Given the description of an element on the screen output the (x, y) to click on. 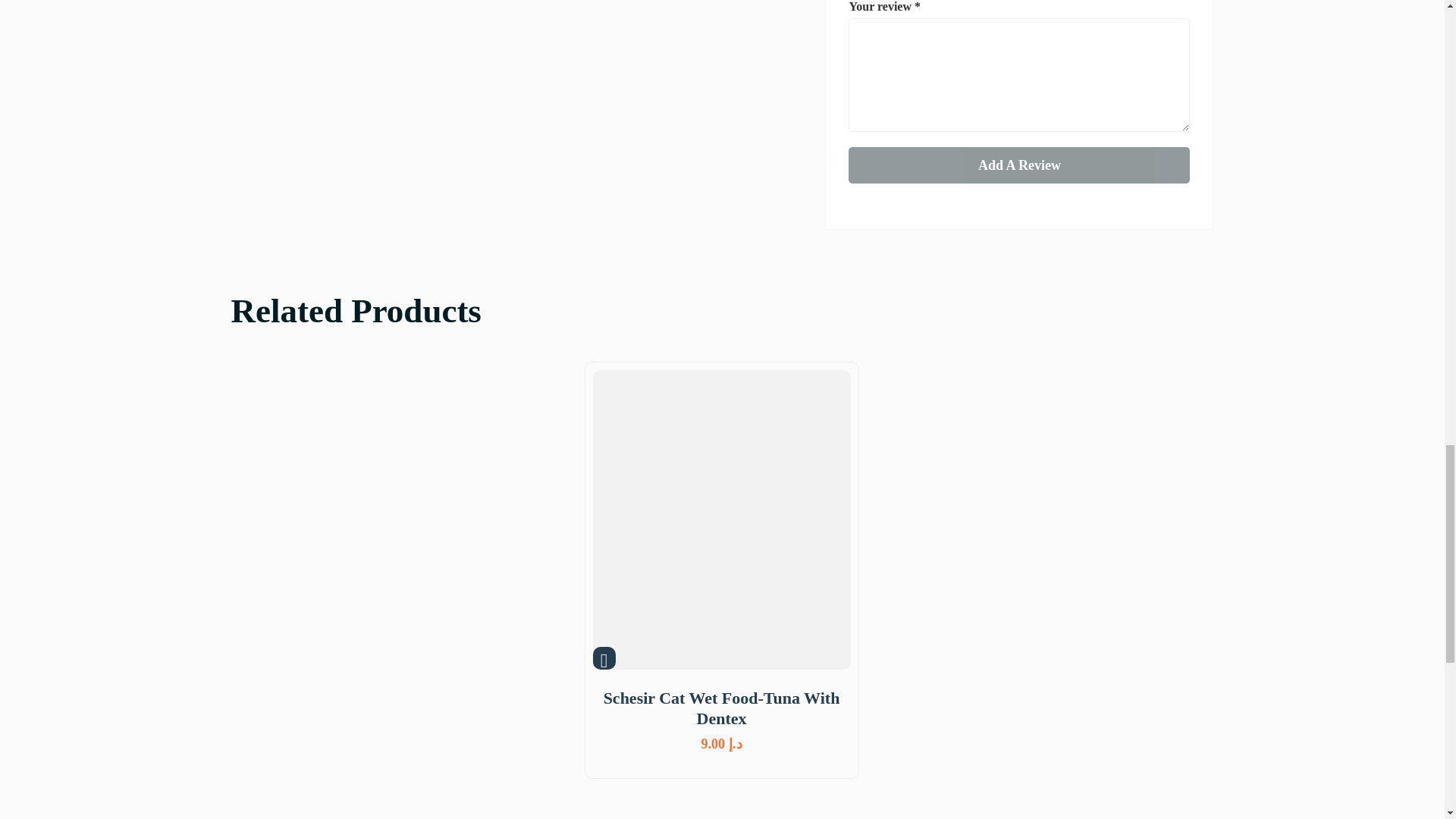
Schesir Cat Wet Food-Tuna With Dentex (721, 708)
Add a review (1018, 165)
Add a review (1018, 165)
